Given the description of an element on the screen output the (x, y) to click on. 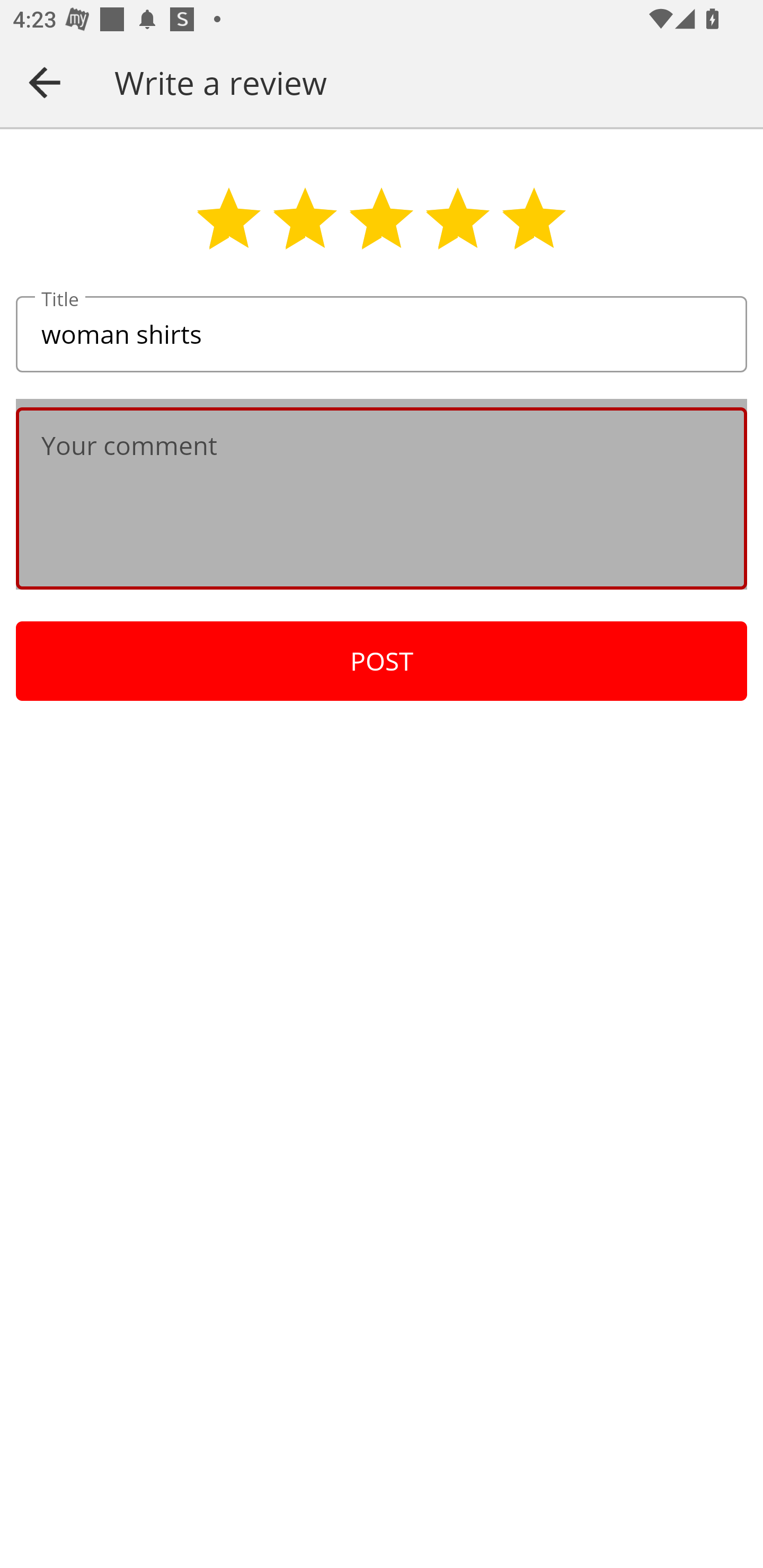
Navigate up (44, 82)
woman shirts (381, 334)
Your comment (381, 498)
POST (381, 660)
